Given the description of an element on the screen output the (x, y) to click on. 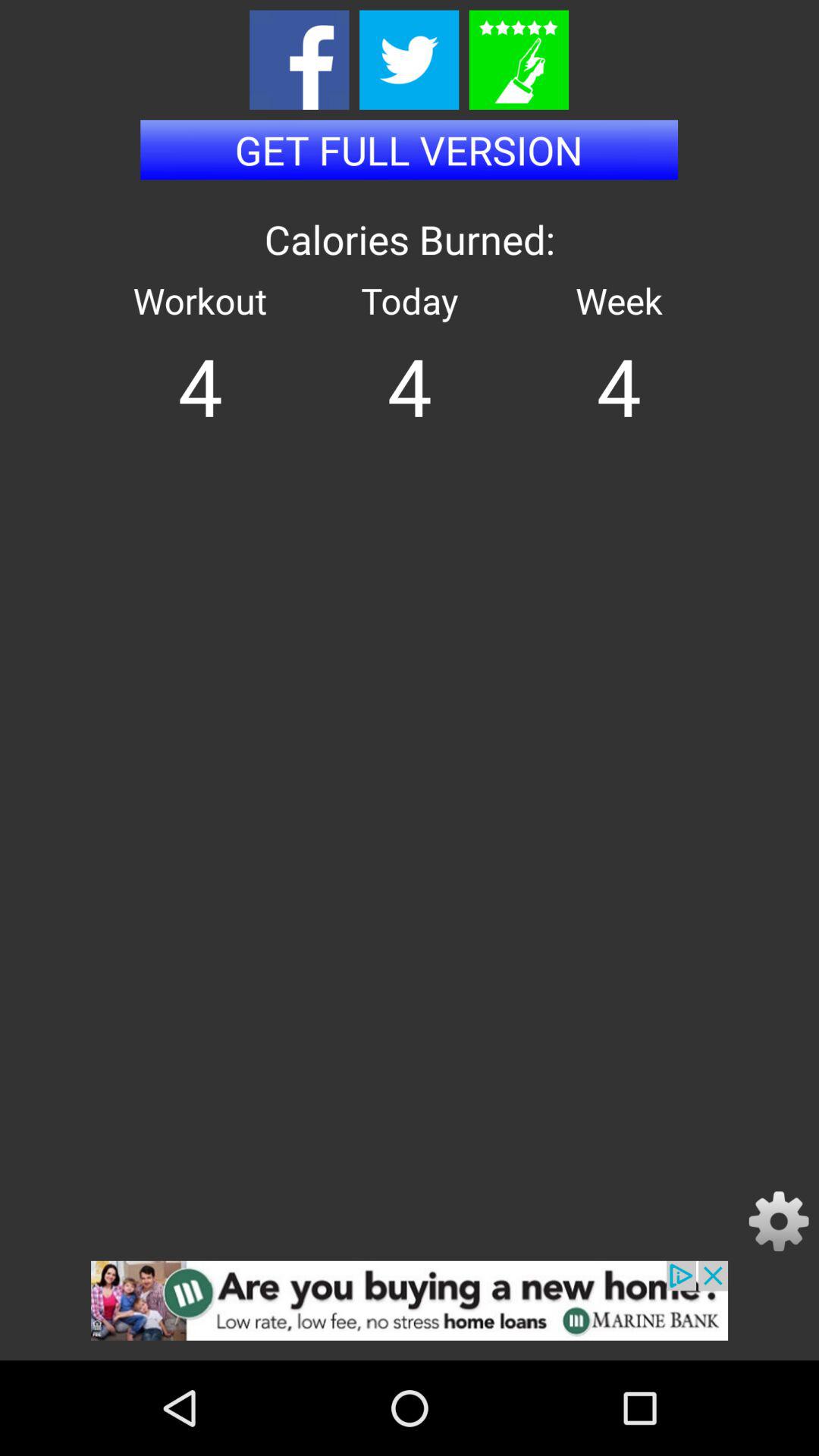
app rating icon (518, 59)
